Given the description of an element on the screen output the (x, y) to click on. 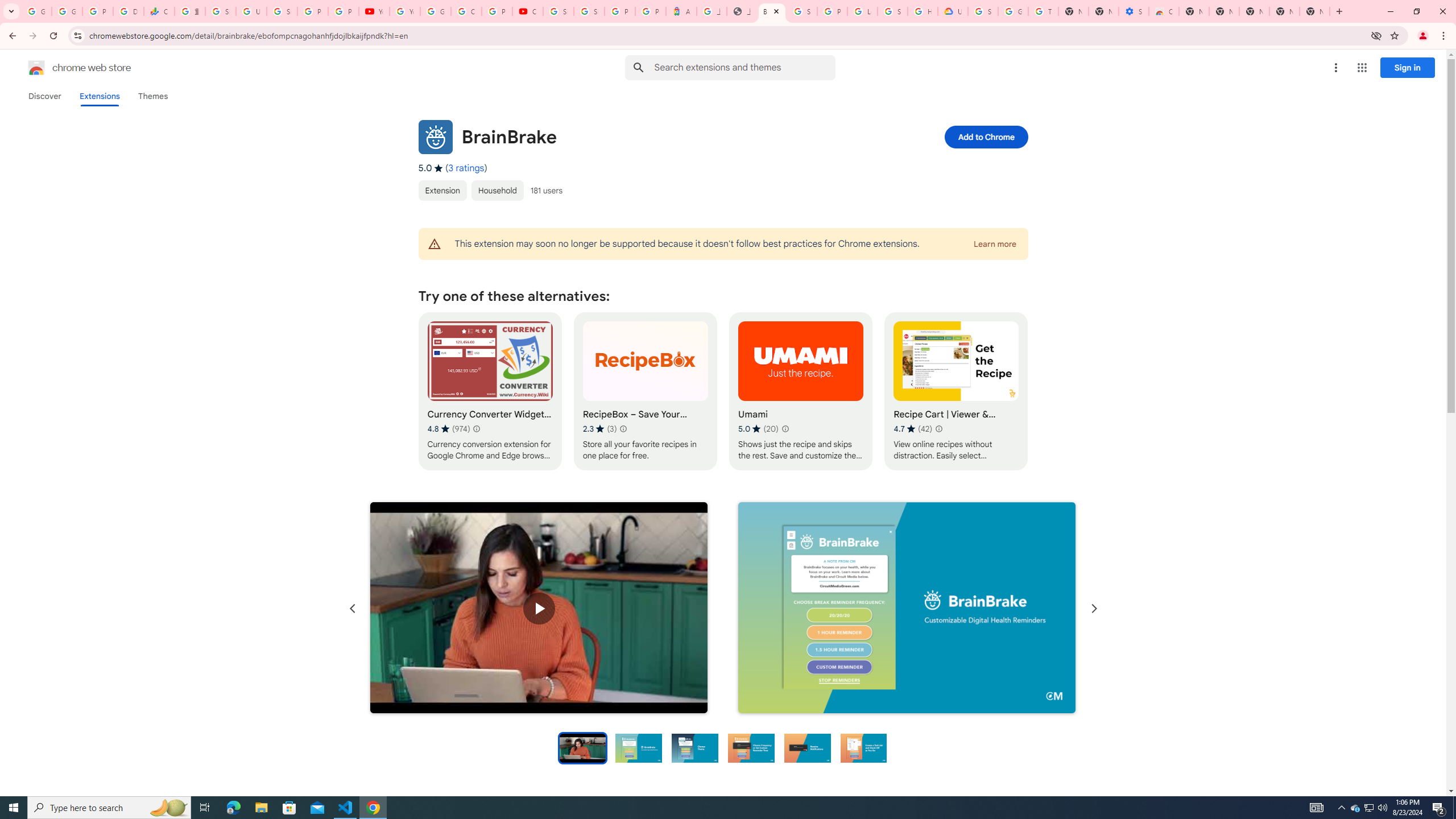
Google Account Help (1012, 11)
Preview slide 1 (582, 747)
Settings - Accessibility (1133, 11)
Average rating 2.3 out of 5 stars. 3 ratings. (599, 428)
Learn more about results and reviews "Umami" (784, 428)
Sign in - Google Accounts (589, 11)
Item media 1 video (538, 608)
New Tab (1193, 11)
Extension (442, 190)
Sign in - Google Accounts (982, 11)
Sign in - Google Accounts (558, 11)
Extensions (99, 95)
